Given the description of an element on the screen output the (x, y) to click on. 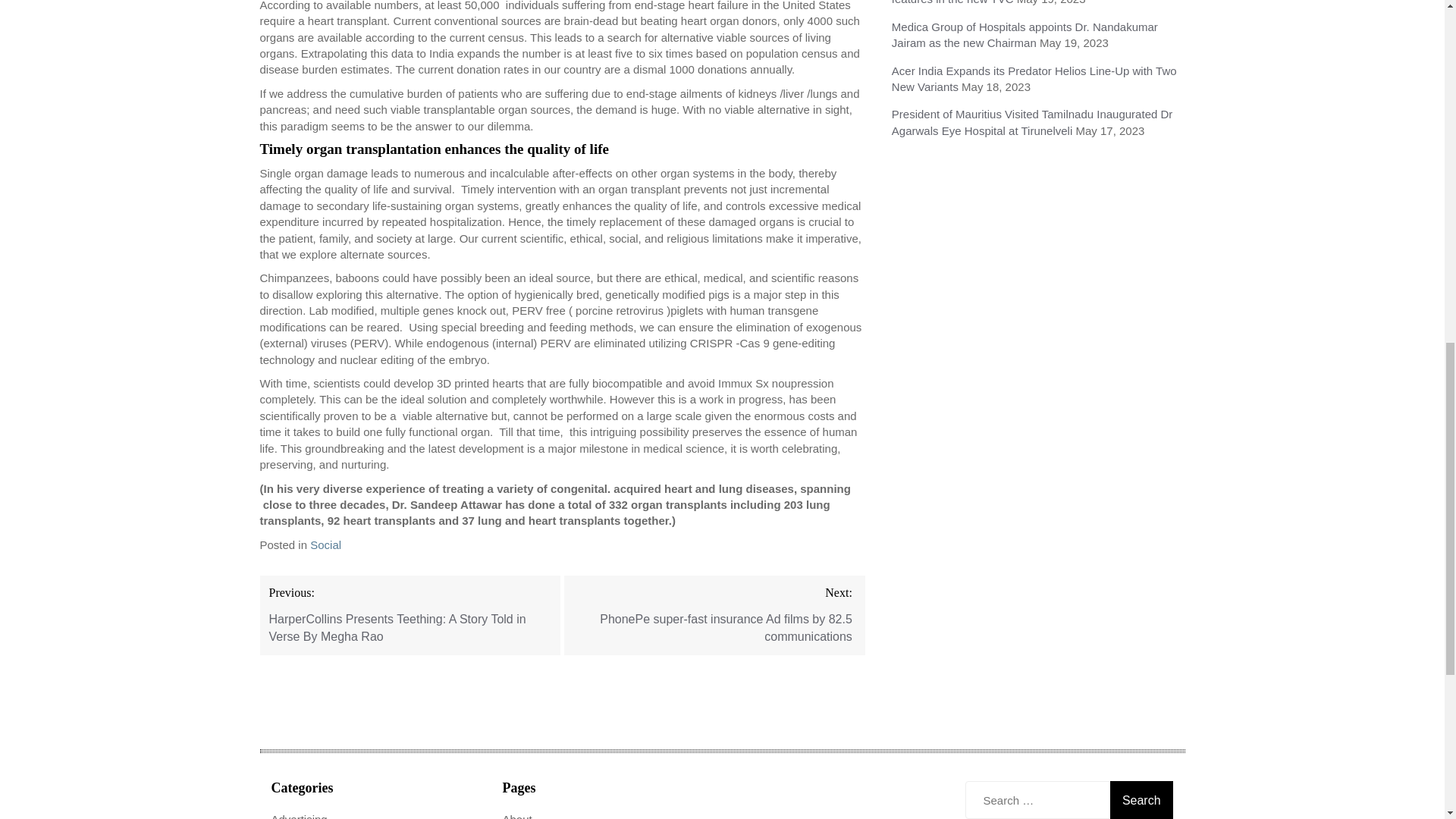
Search (1141, 800)
Social (325, 544)
Search (1141, 800)
